Given the description of an element on the screen output the (x, y) to click on. 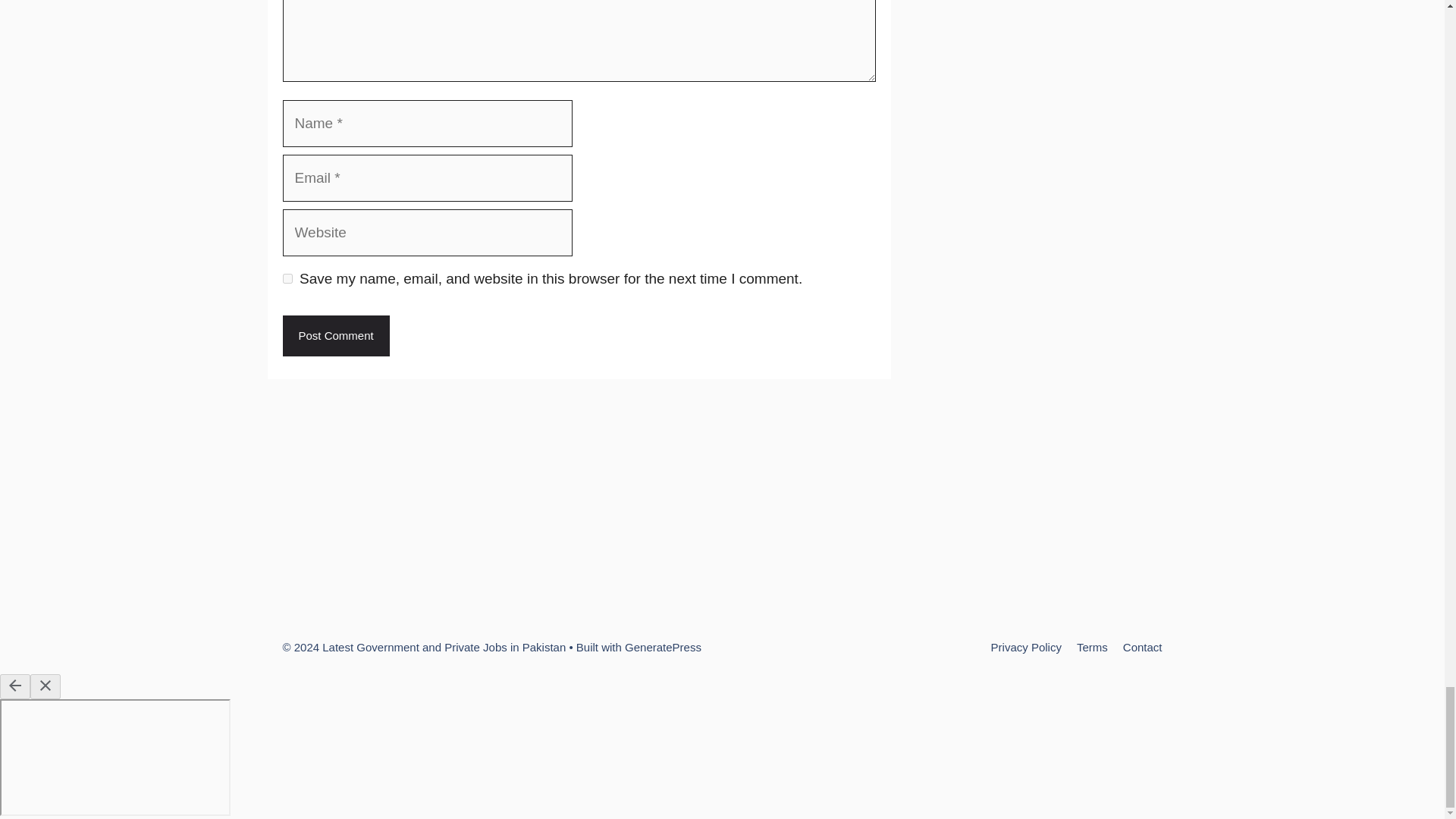
yes (287, 278)
Post Comment (335, 335)
